Given the description of an element on the screen output the (x, y) to click on. 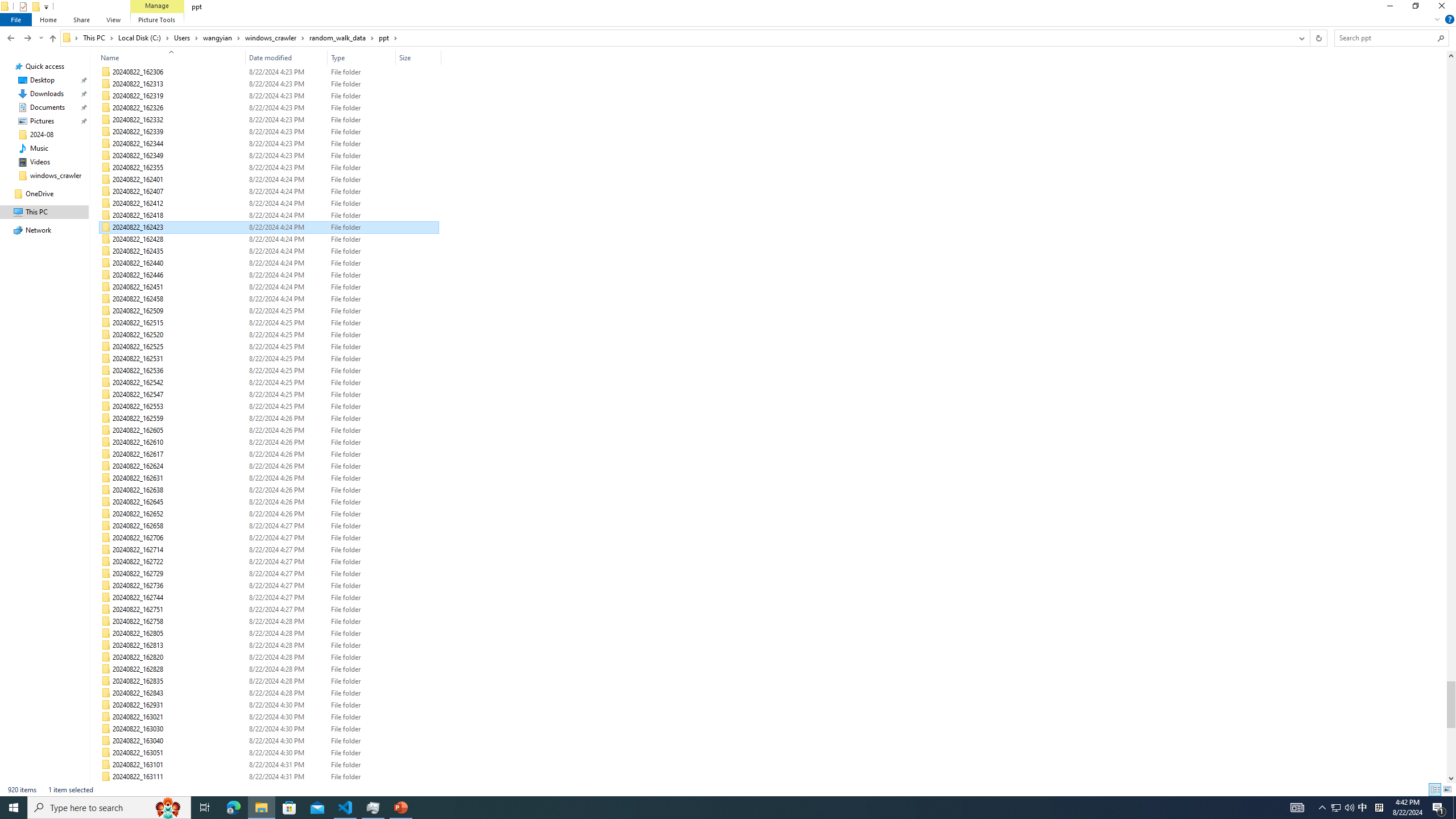
20240822_162509 (269, 310)
Minimize the Ribbon (1436, 19)
20240822_162547 (269, 394)
20240822_162722 (269, 561)
Name (168, 57)
Date modified (286, 57)
20240822_162525 (269, 346)
20240822_162401 (269, 179)
20240822_162758 (269, 621)
20240822_162344 (269, 143)
Name (179, 788)
Refresh "ppt" (F5) (1318, 37)
20240822_162428 (269, 239)
